Given the description of an element on the screen output the (x, y) to click on. 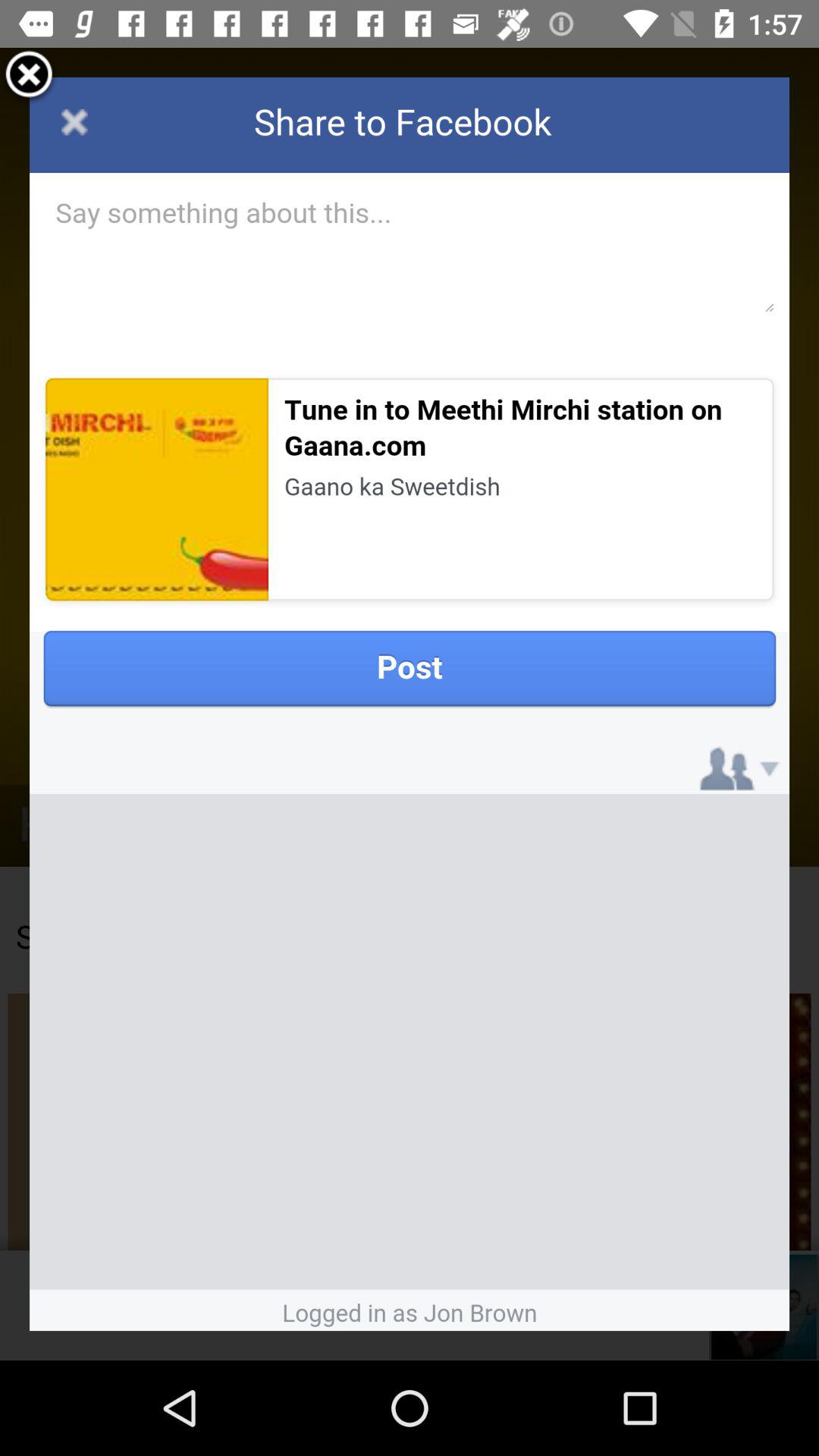
to share information on facebook (409, 703)
